Given the description of an element on the screen output the (x, y) to click on. 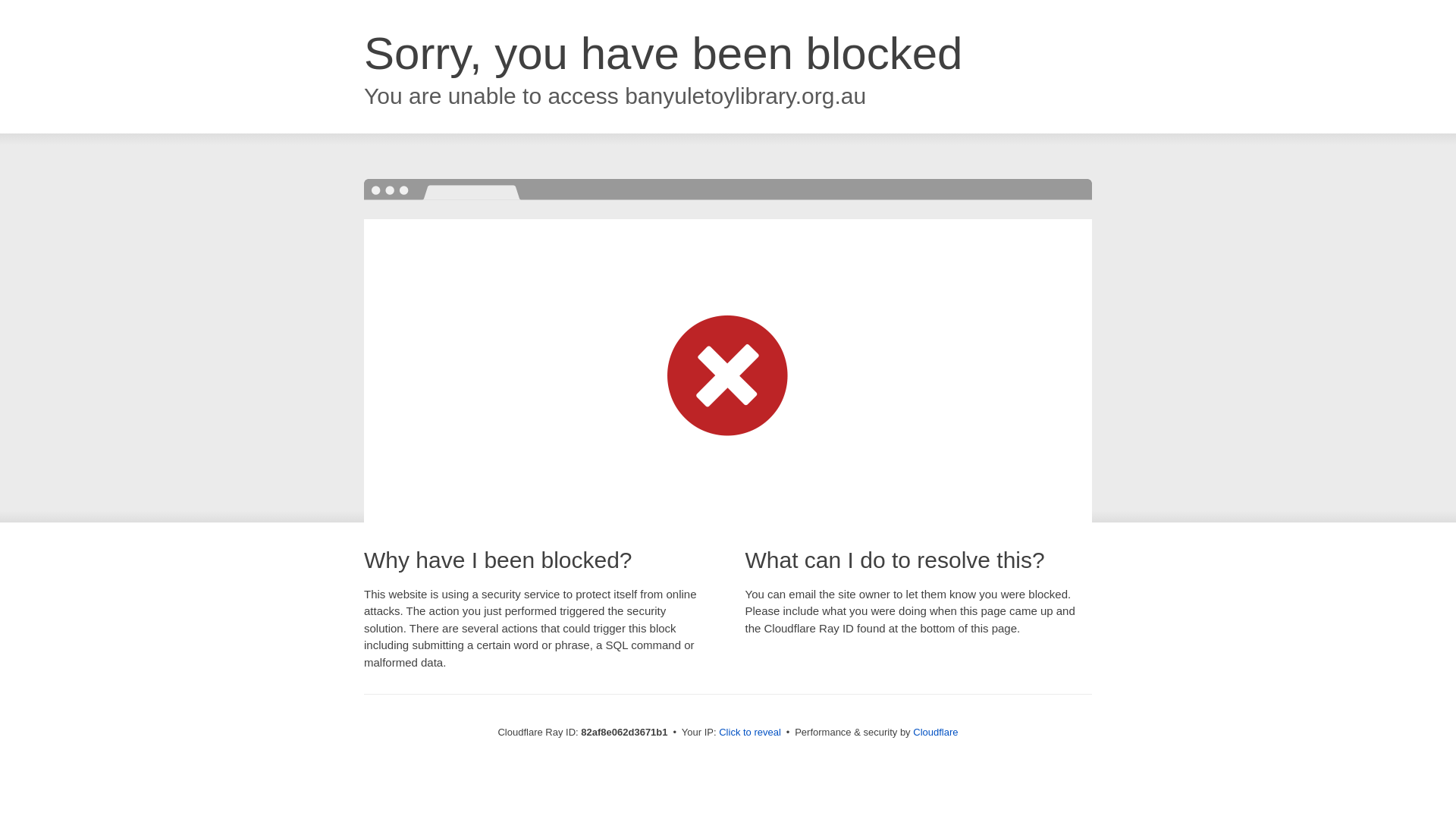
Cloudflare Element type: text (935, 731)
Click to reveal Element type: text (749, 732)
